Given the description of an element on the screen output the (x, y) to click on. 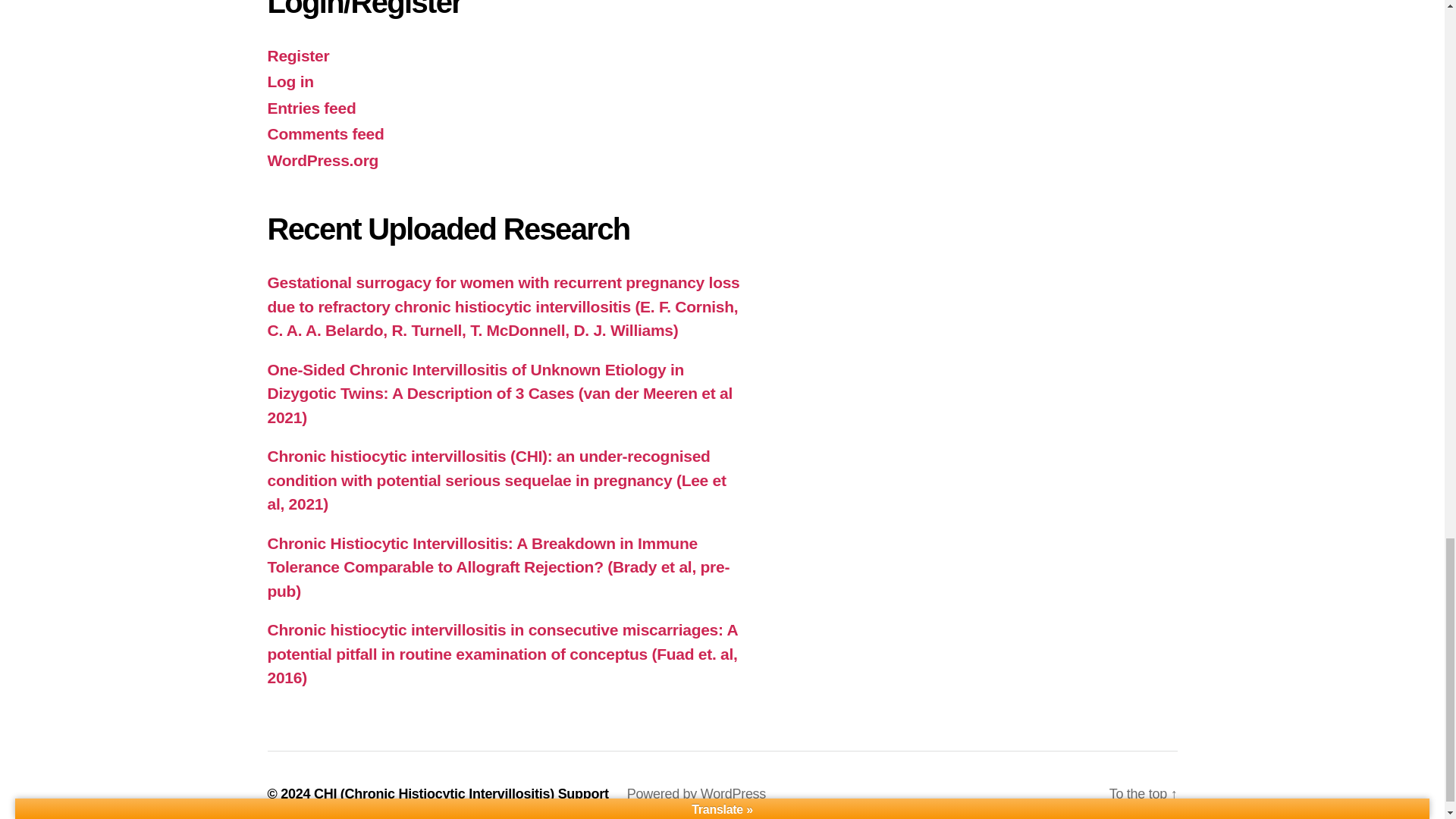
Comments feed (325, 133)
WordPress.org (322, 159)
Entries feed (310, 108)
Register (297, 55)
Powered by WordPress (696, 793)
Log in (289, 81)
